Given the description of an element on the screen output the (x, y) to click on. 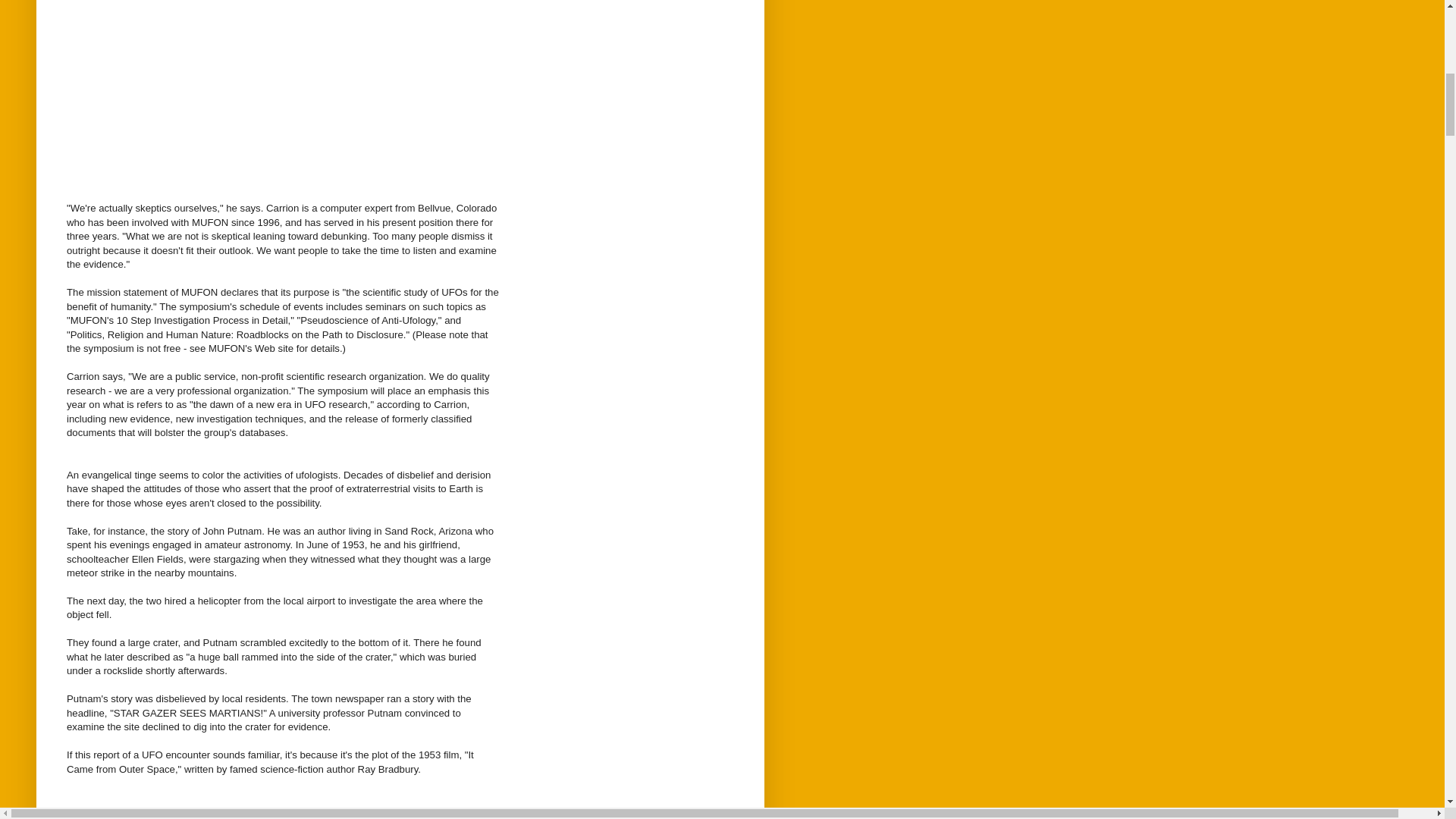
Advertisement (282, 86)
